Given the description of an element on the screen output the (x, y) to click on. 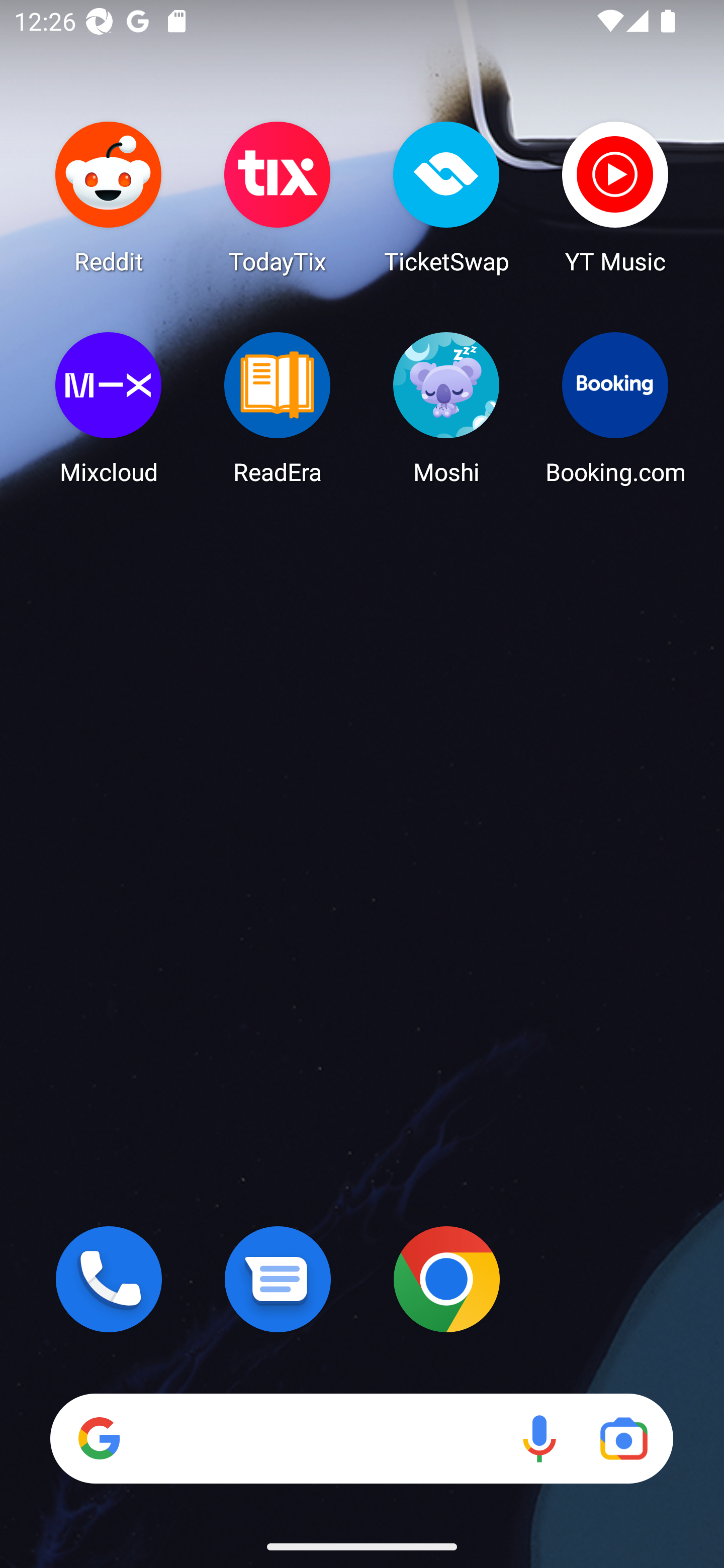
Reddit (108, 196)
TodayTix (277, 196)
TicketSwap (445, 196)
YT Music (615, 196)
Mixcloud (108, 407)
ReadEra (277, 407)
Moshi (445, 407)
Booking.com (615, 407)
Phone (108, 1279)
Messages (277, 1279)
Chrome (446, 1279)
Search Voice search Google Lens (361, 1438)
Voice search (539, 1438)
Google Lens (623, 1438)
